Given the description of an element on the screen output the (x, y) to click on. 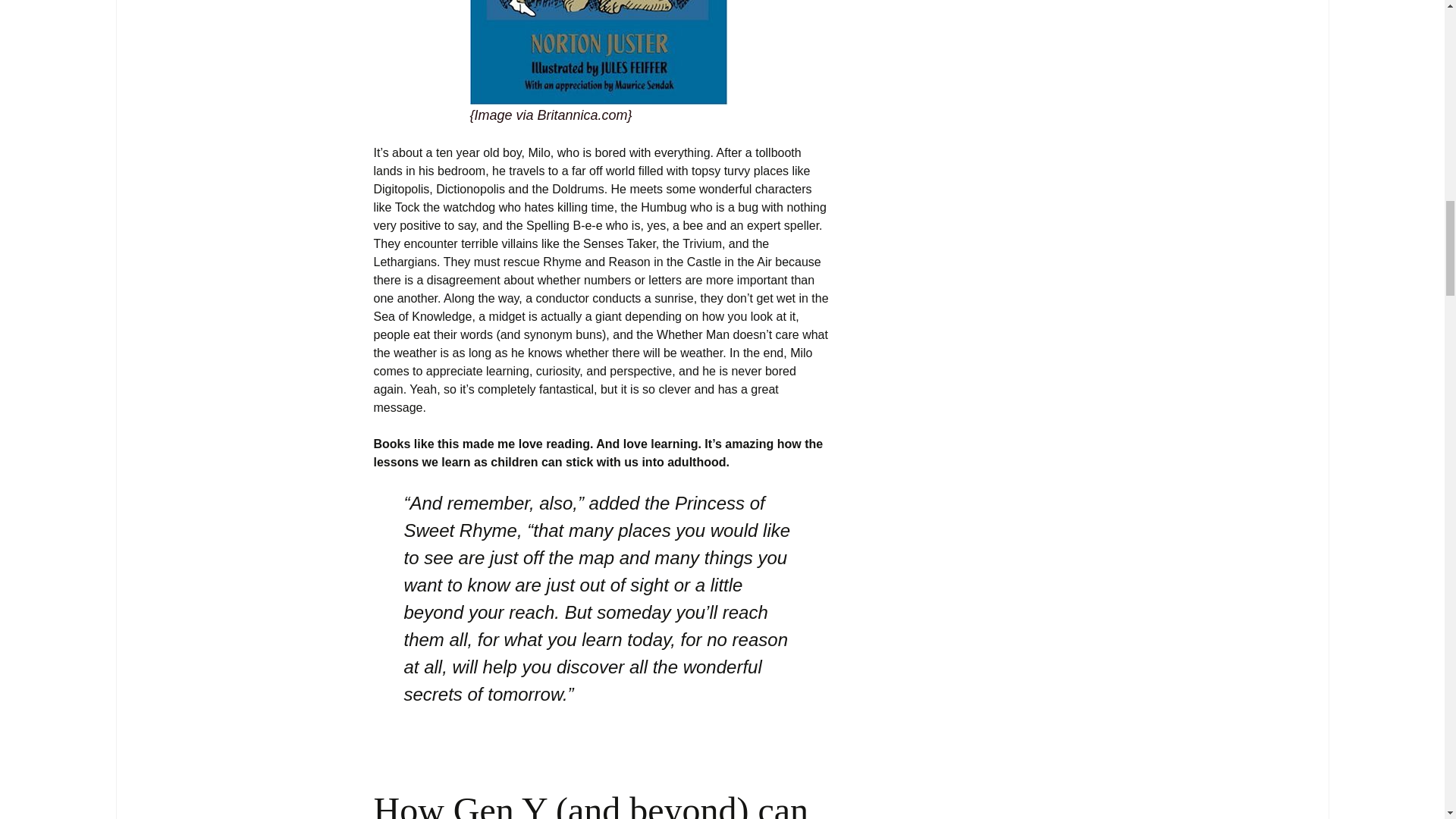
phanthom1 (599, 52)
